Given the description of an element on the screen output the (x, y) to click on. 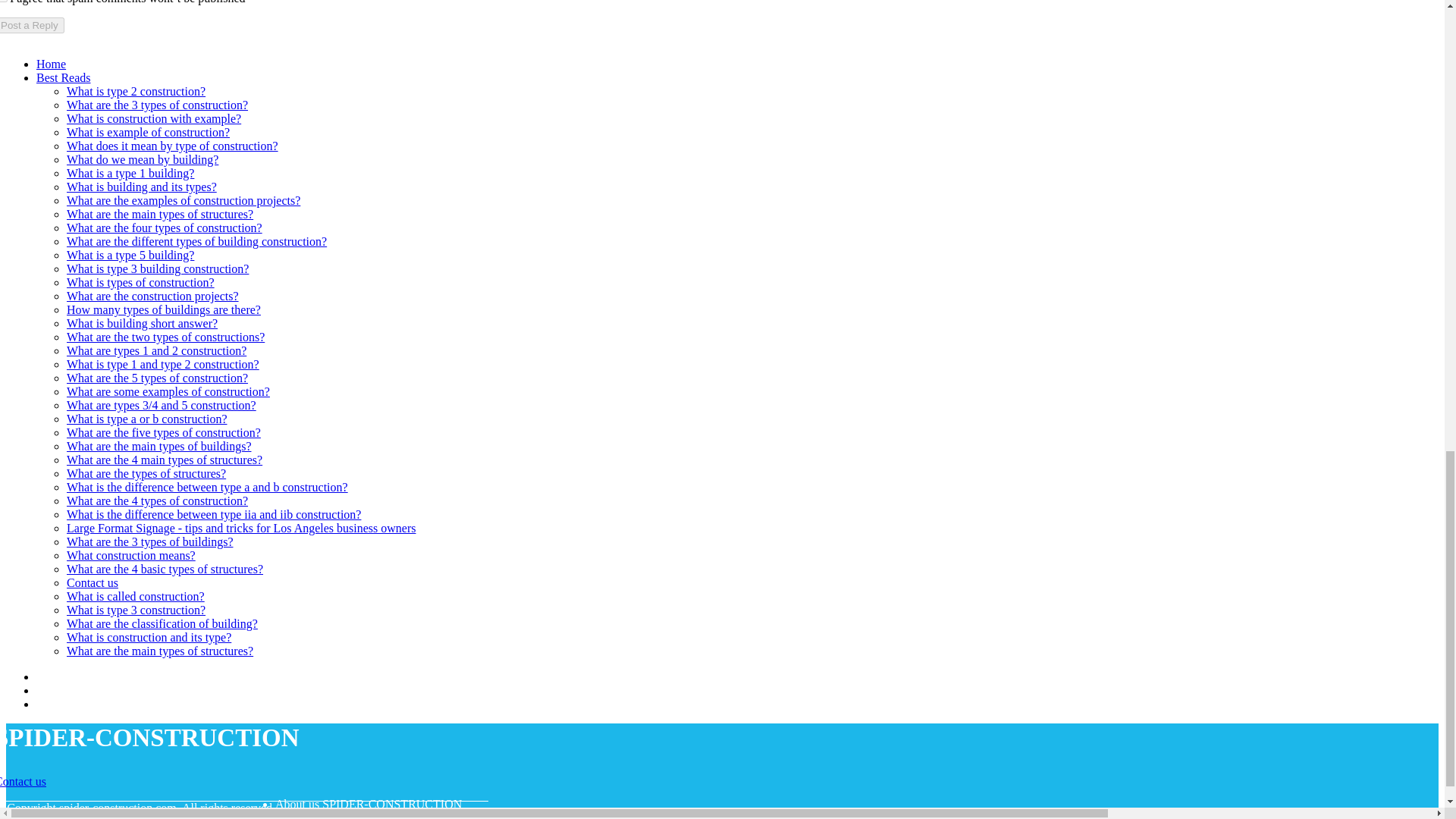
Post a Reply (32, 25)
What is construction with example? (153, 118)
What does it mean by type of construction? (172, 145)
Post a Reply (32, 25)
What do we mean by building? (142, 159)
How many types of buildings are there? (163, 309)
What is types of construction? (140, 282)
What are the different types of building construction? (196, 241)
What is type 3 building construction? (157, 268)
What are the two types of constructions? (165, 336)
